Given the description of an element on the screen output the (x, y) to click on. 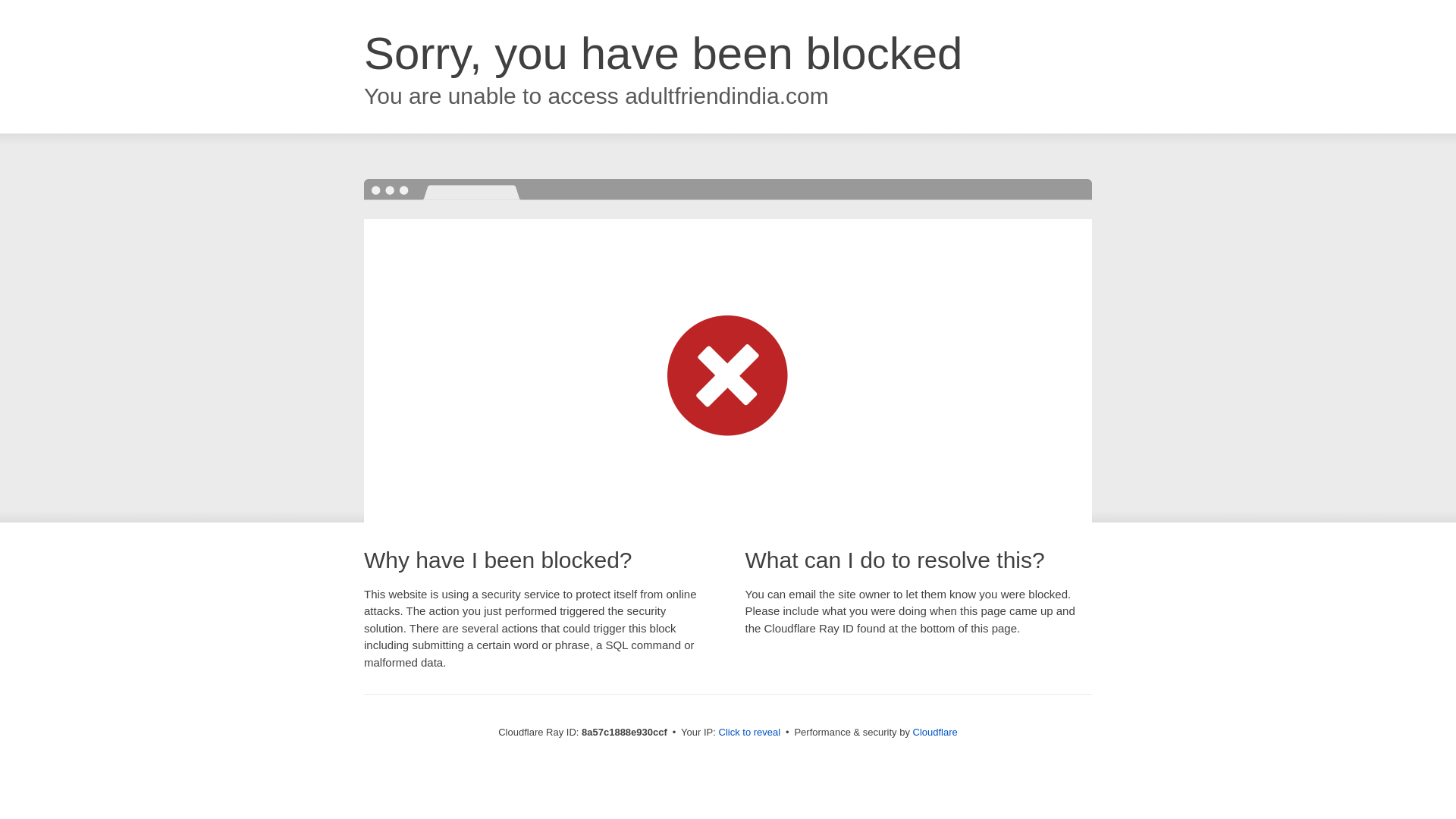
Cloudflare (935, 731)
Click to reveal (749, 732)
